Given the description of an element on the screen output the (x, y) to click on. 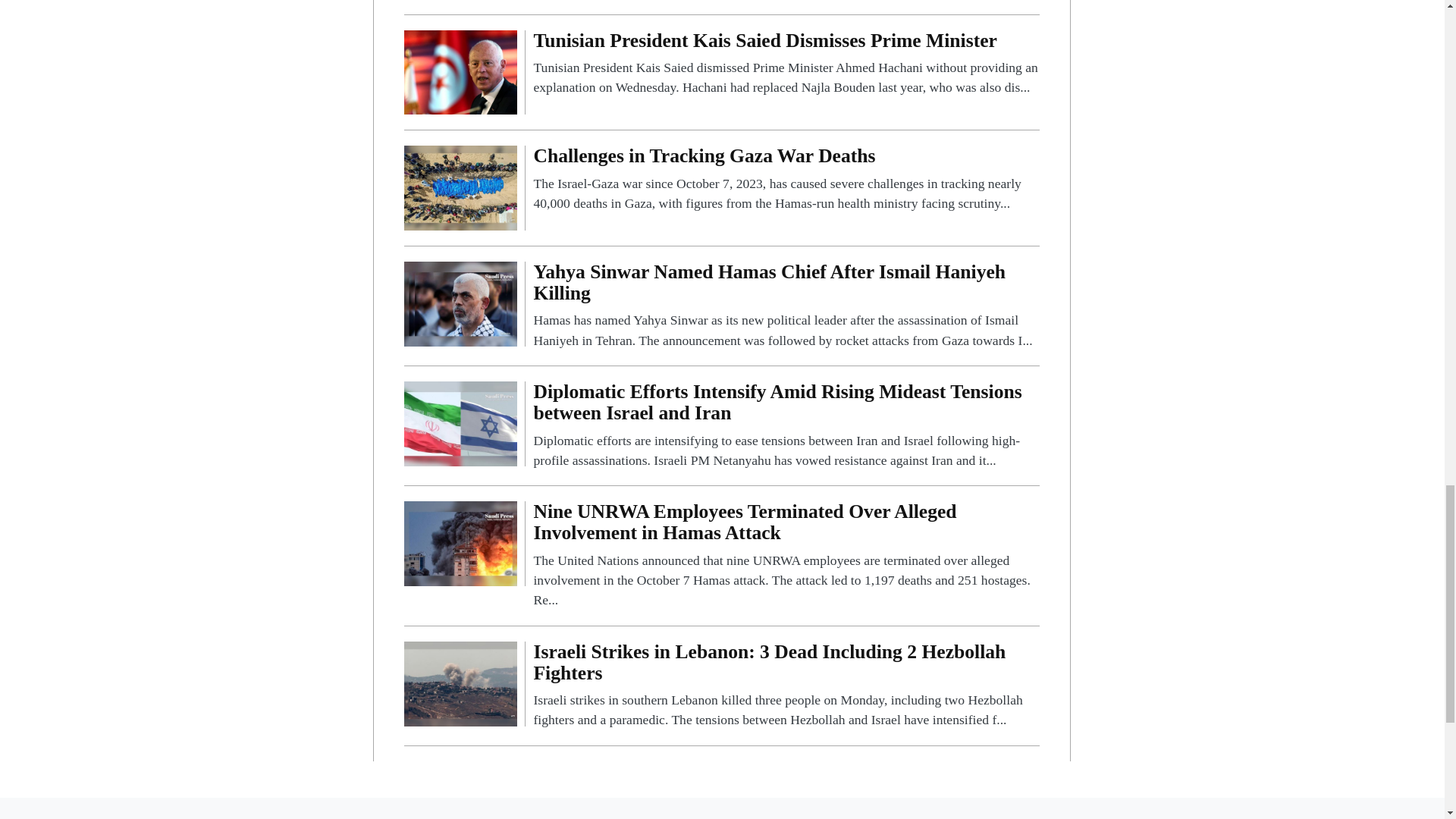
Yahya Sinwar Named Hamas Chief After Ismail Haniyeh Killing (460, 302)
Challenges in Tracking Gaza War Deaths (785, 178)
Challenges in Tracking Gaza War Deaths (460, 187)
Yahya Sinwar Named Hamas Chief After Ismail Haniyeh Killing (785, 305)
Tunisian President Kais Saied Dismisses Prime Minister (785, 63)
Tunisian President Kais Saied Dismisses Prime Minister (460, 71)
